Given the description of an element on the screen output the (x, y) to click on. 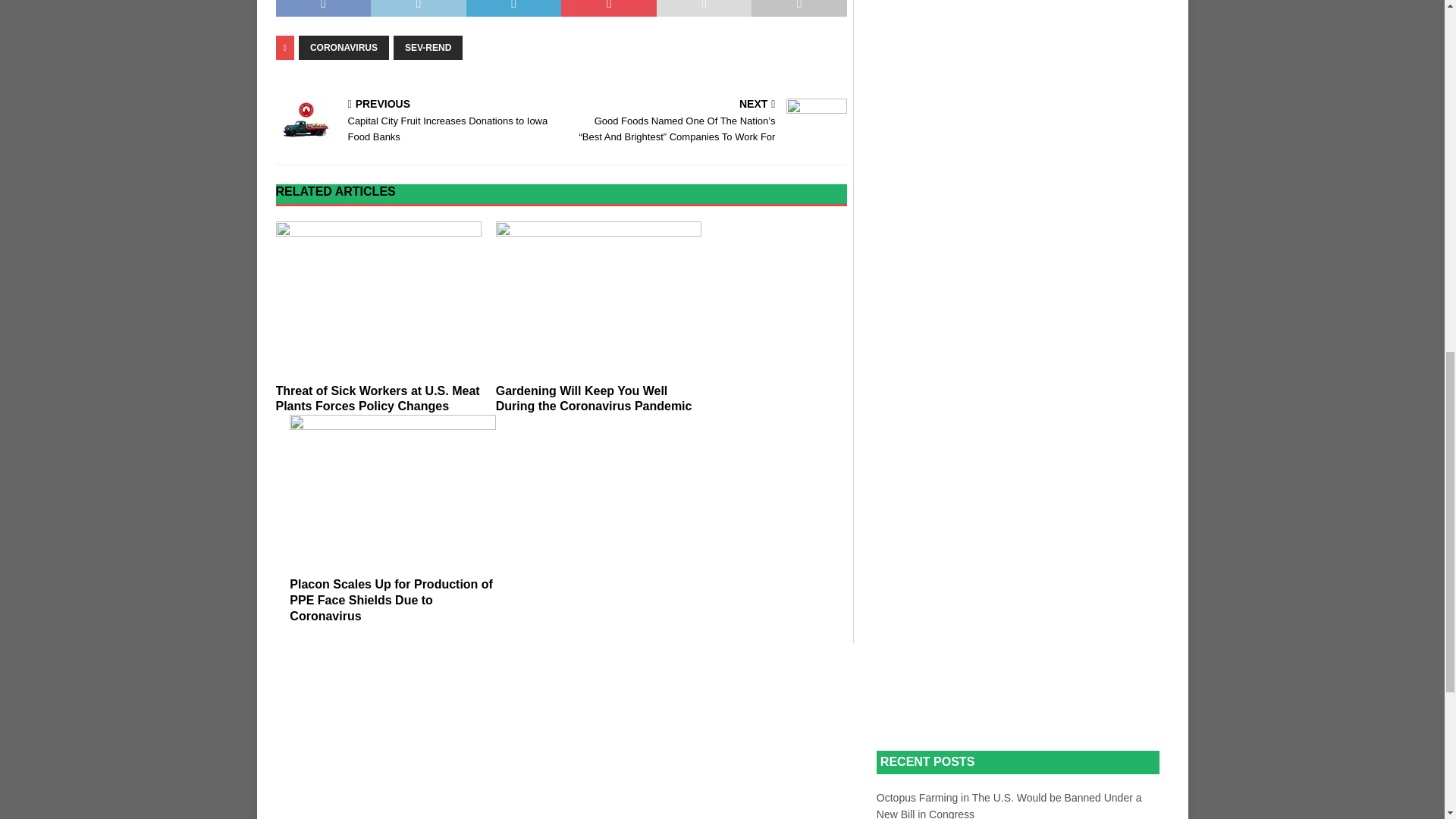
Gardening Will Keep You Well During the Coronavirus Pandemic (598, 298)
Gardening Will Keep You Well During the Coronavirus Pandemic (594, 398)
